Given the description of an element on the screen output the (x, y) to click on. 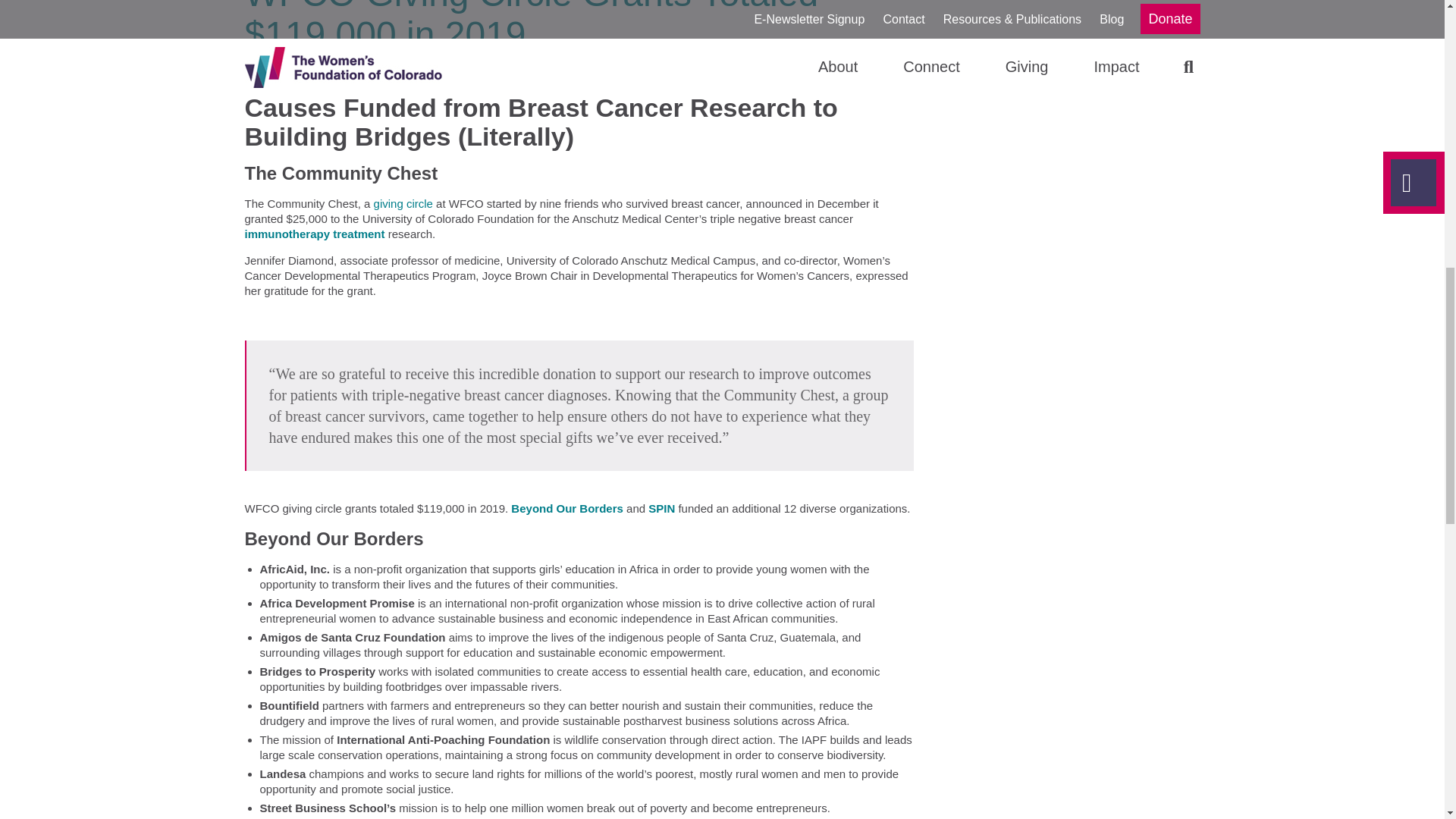
The Women's Foundation of Colorado (339, 73)
giving circle (403, 203)
immunotherapy treatment (314, 233)
Posts by The Women's Foundation of Colorado (339, 73)
SPIN (661, 508)
Beyond Our Borders (567, 508)
